Given the description of an element on the screen output the (x, y) to click on. 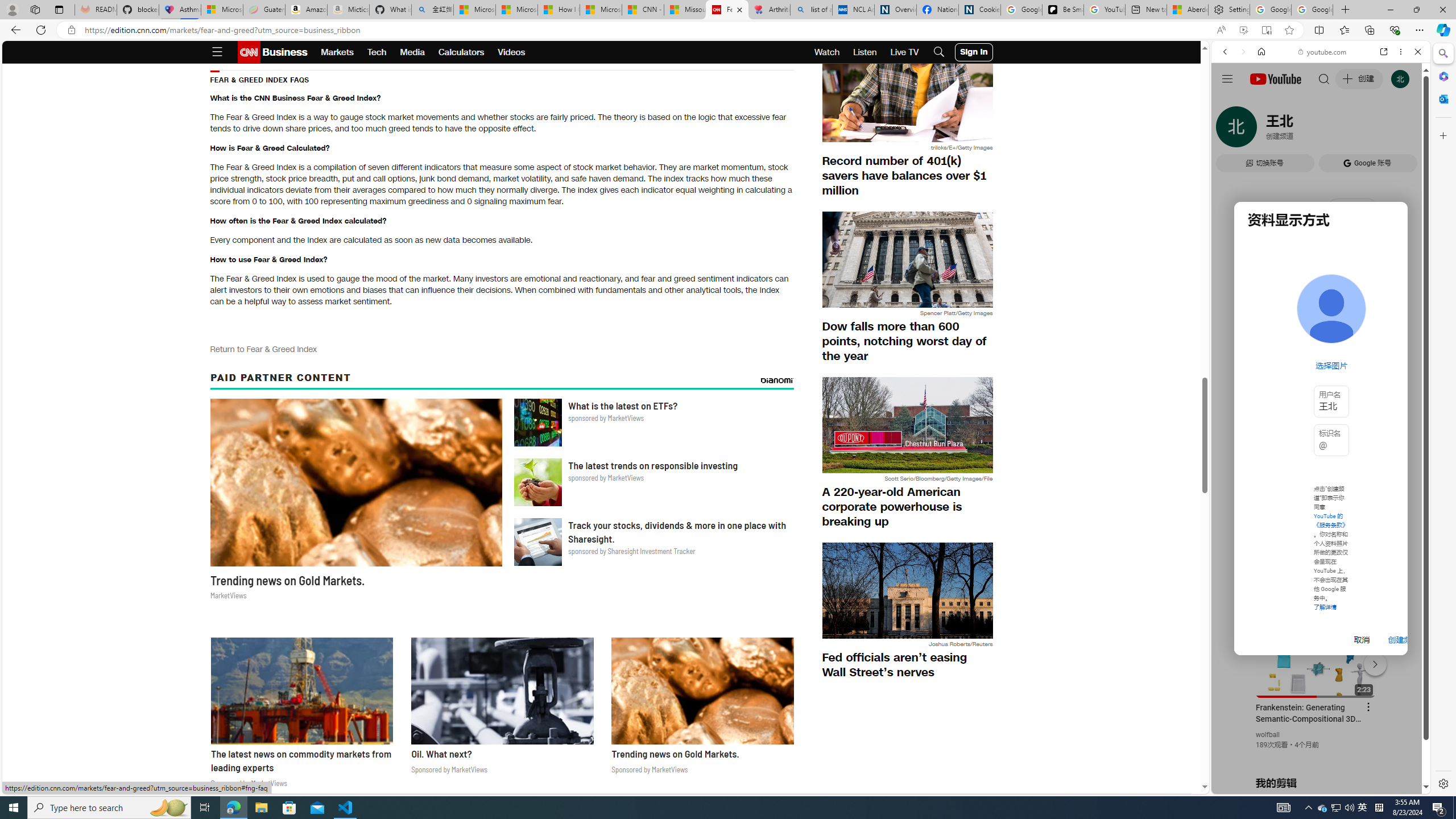
Enter Immersive Reader (F9) (1266, 29)
